Given the description of an element on the screen output the (x, y) to click on. 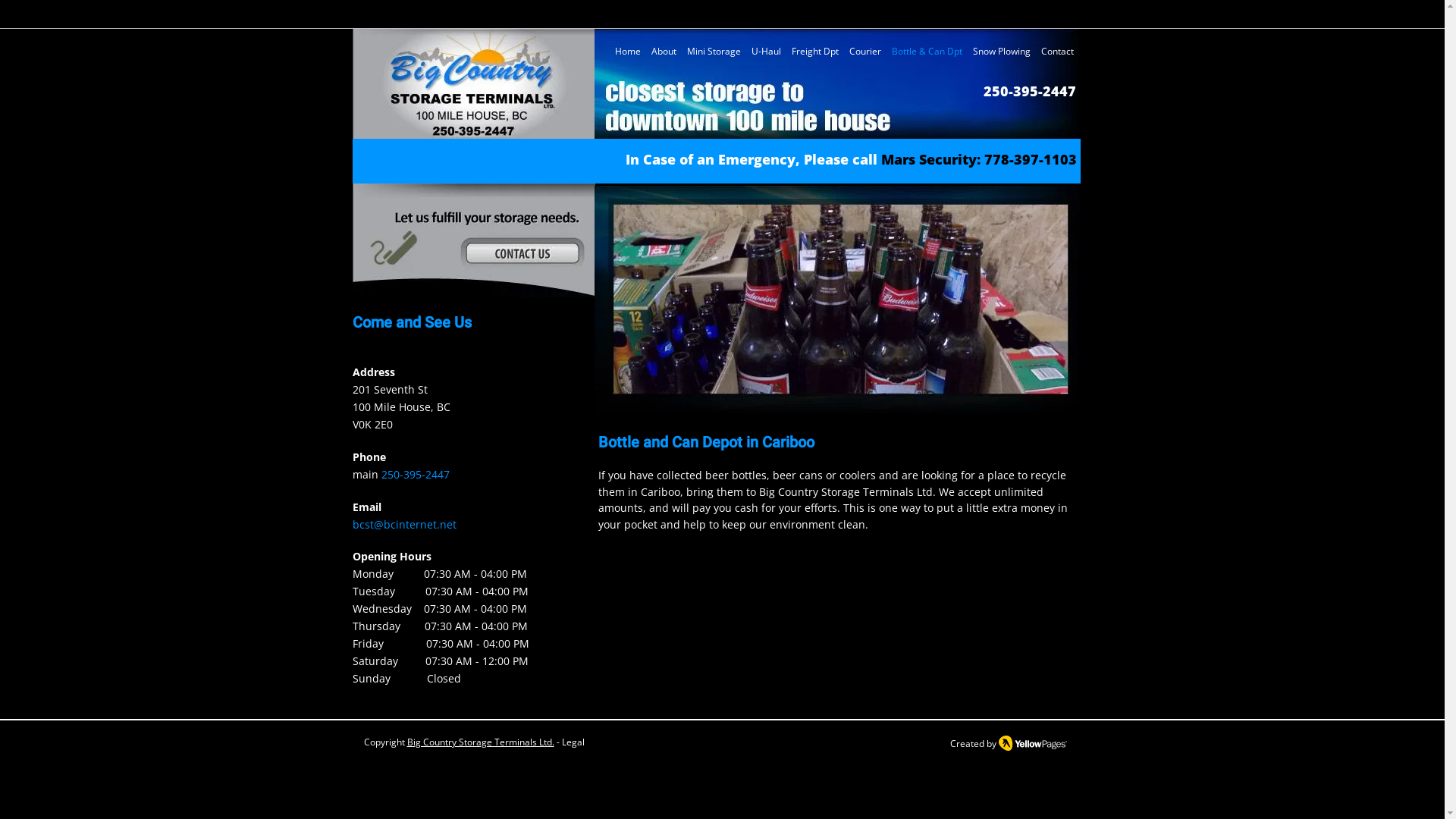
Big Country Storage Terminals Ltd. Element type: text (479, 741)
Courier Element type: text (864, 49)
Legal Element type: text (572, 741)
250-395-2447 Element type: text (1028, 90)
Freight Dpt Element type: text (814, 49)
Home Element type: text (627, 49)
U-Haul Element type: text (766, 49)
250-395-2447 Element type: text (414, 474)
About Element type: text (663, 49)
778-397-1103 Element type: text (1030, 159)
Embedded Content Element type: hover (1063, 19)
Snow Plowing Element type: text (1001, 49)
Contact Element type: text (1057, 49)
Mini Storage Element type: text (712, 49)
bcst@bcinternet.net Element type: text (403, 524)
Embedded Content Element type: hover (938, 22)
Bottle & Can Dpt Element type: text (925, 49)
